Given the description of an element on the screen output the (x, y) to click on. 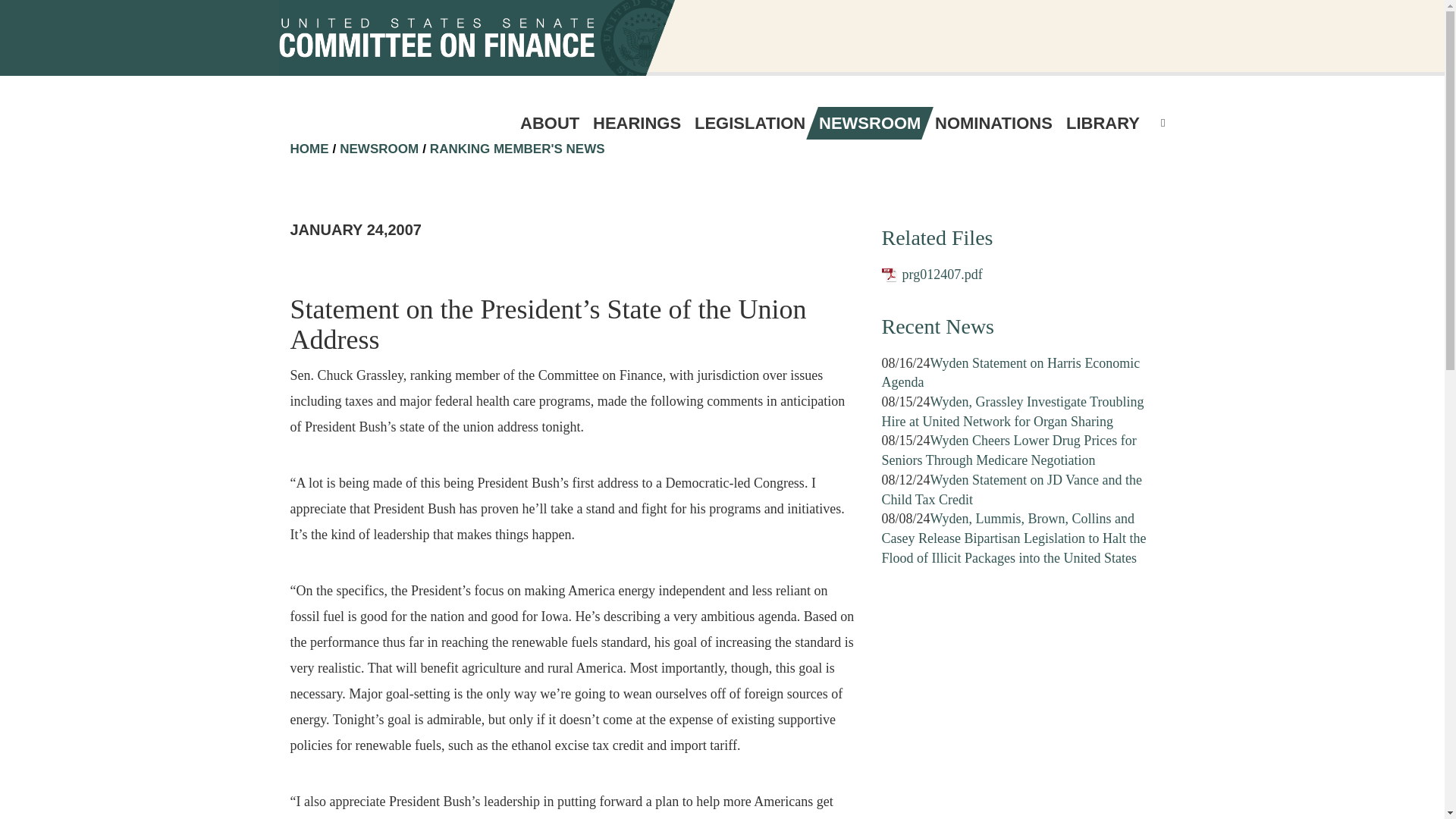
NOMINATIONS (993, 123)
LEGISLATION (749, 123)
HEARINGS (636, 123)
